Given the description of an element on the screen output the (x, y) to click on. 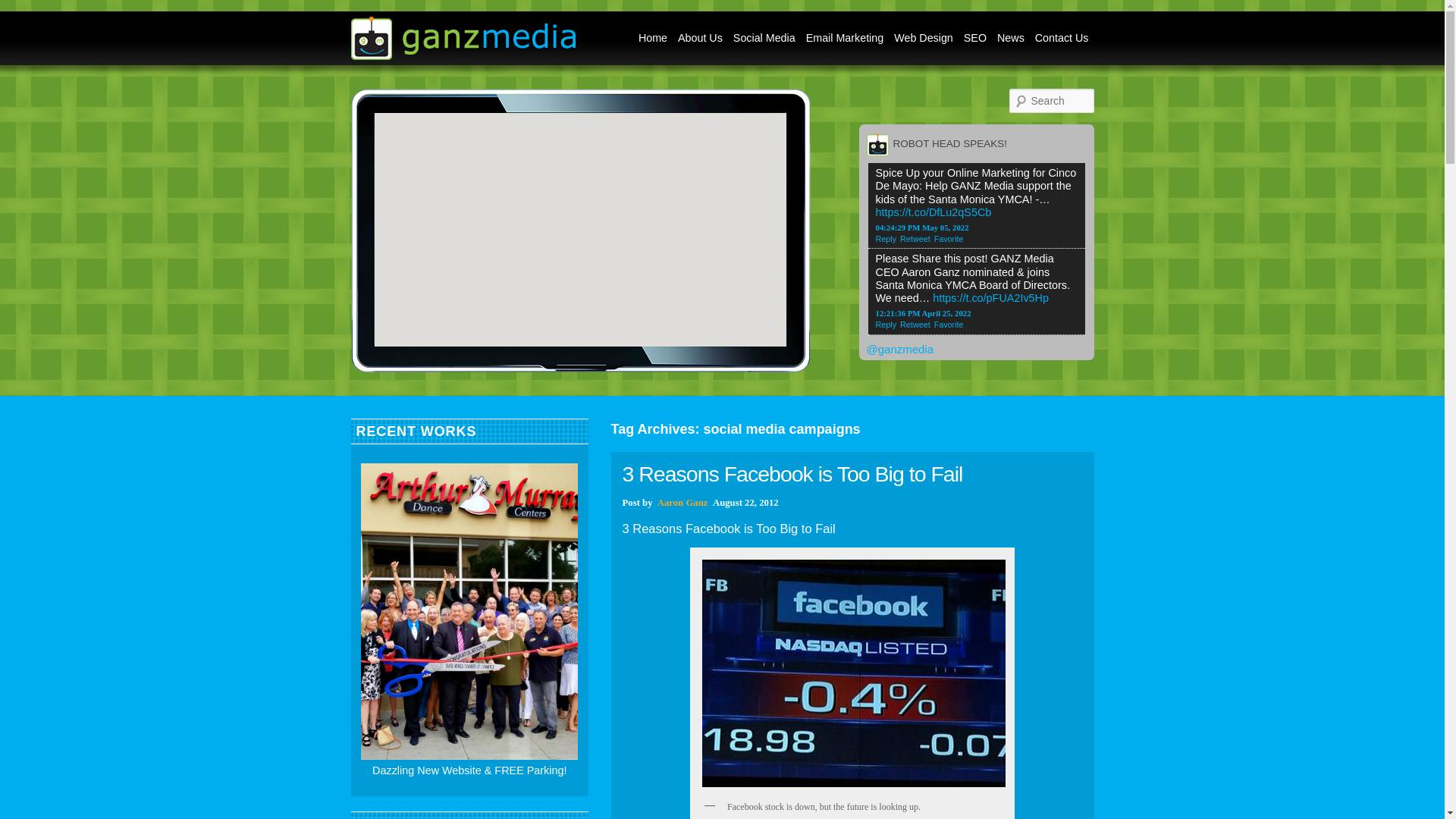
Favorite (951, 238)
Reply (887, 324)
04:24:29 PM May 05, 2022 (921, 226)
Web Design (923, 37)
12:21:36 PM April 25, 2022 (923, 312)
Home (652, 37)
Contact Us (1061, 37)
View all posts by Aaron Ganz (683, 502)
GANZ Media (462, 51)
Reply (887, 238)
Search (24, 8)
Retweet (916, 238)
3 Reasons Facebook is Too Big to Fail (791, 473)
Email Marketing (844, 37)
About Us (700, 37)
